Given the description of an element on the screen output the (x, y) to click on. 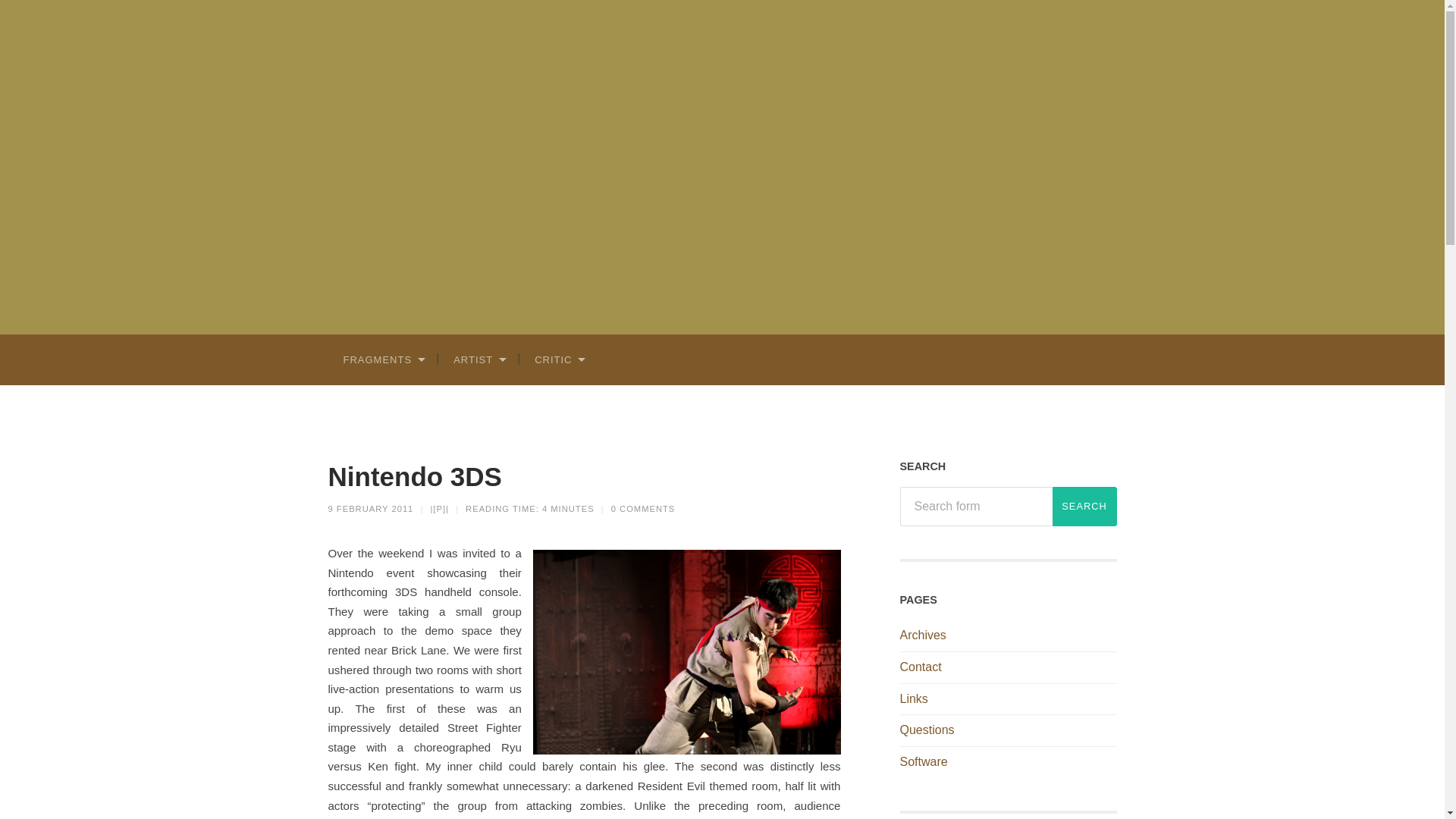
CRITIC (558, 358)
Nintendo 3DS (413, 475)
ARTIST (478, 358)
9 FEBRUARY 2011 (370, 507)
FRAGMENTS (382, 358)
Nintendo 3DS (413, 475)
Search (1084, 506)
Street Fighter - Ryu (686, 652)
Nintendo 3DS (370, 507)
